Given the description of an element on the screen output the (x, y) to click on. 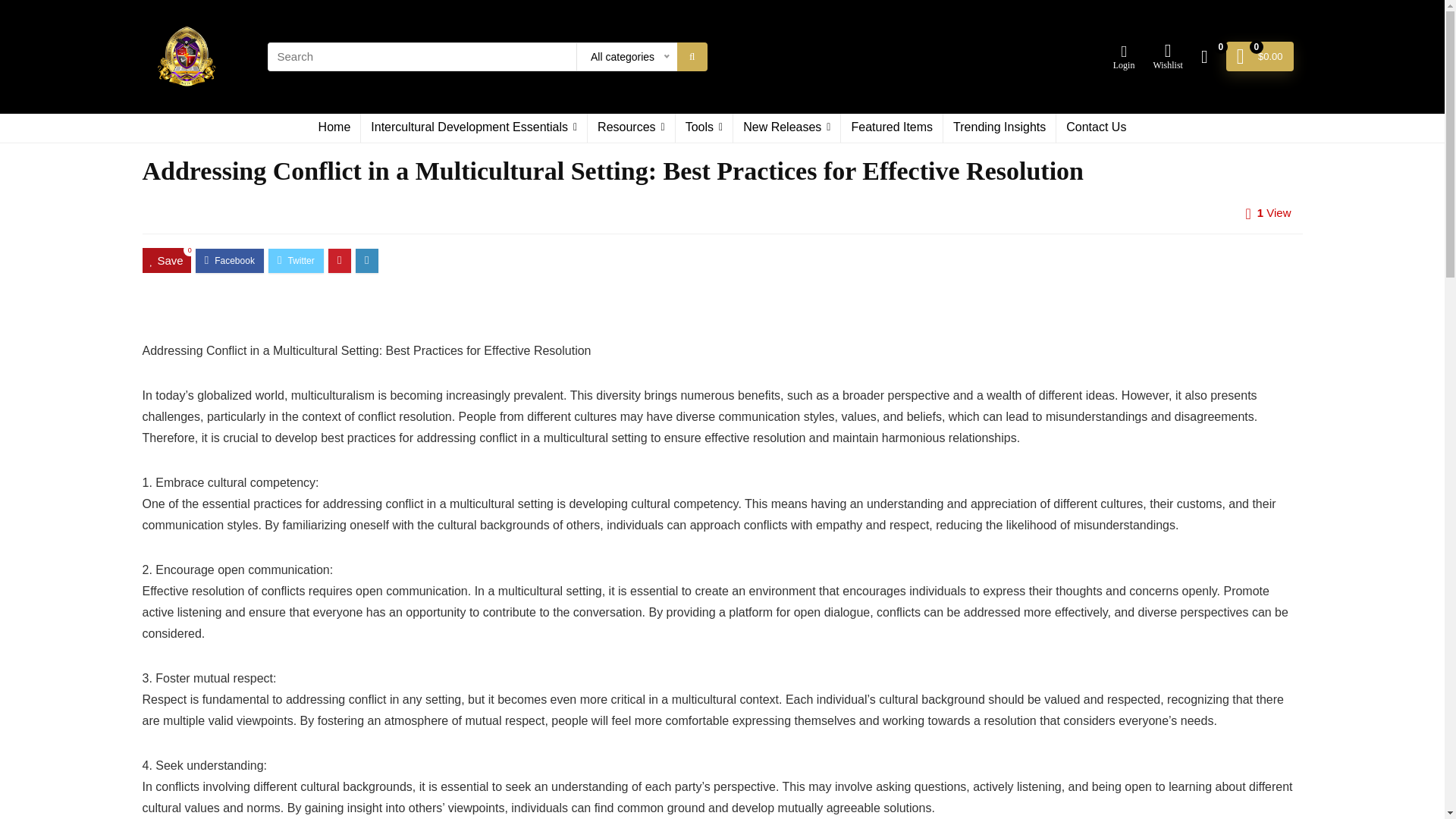
Featured Items (891, 127)
Trending Insights (999, 127)
Tools (703, 127)
New Releases (786, 127)
Contact Us (1096, 127)
Intercultural Development Essentials (473, 127)
Home (334, 127)
Resources (631, 127)
